Given the description of an element on the screen output the (x, y) to click on. 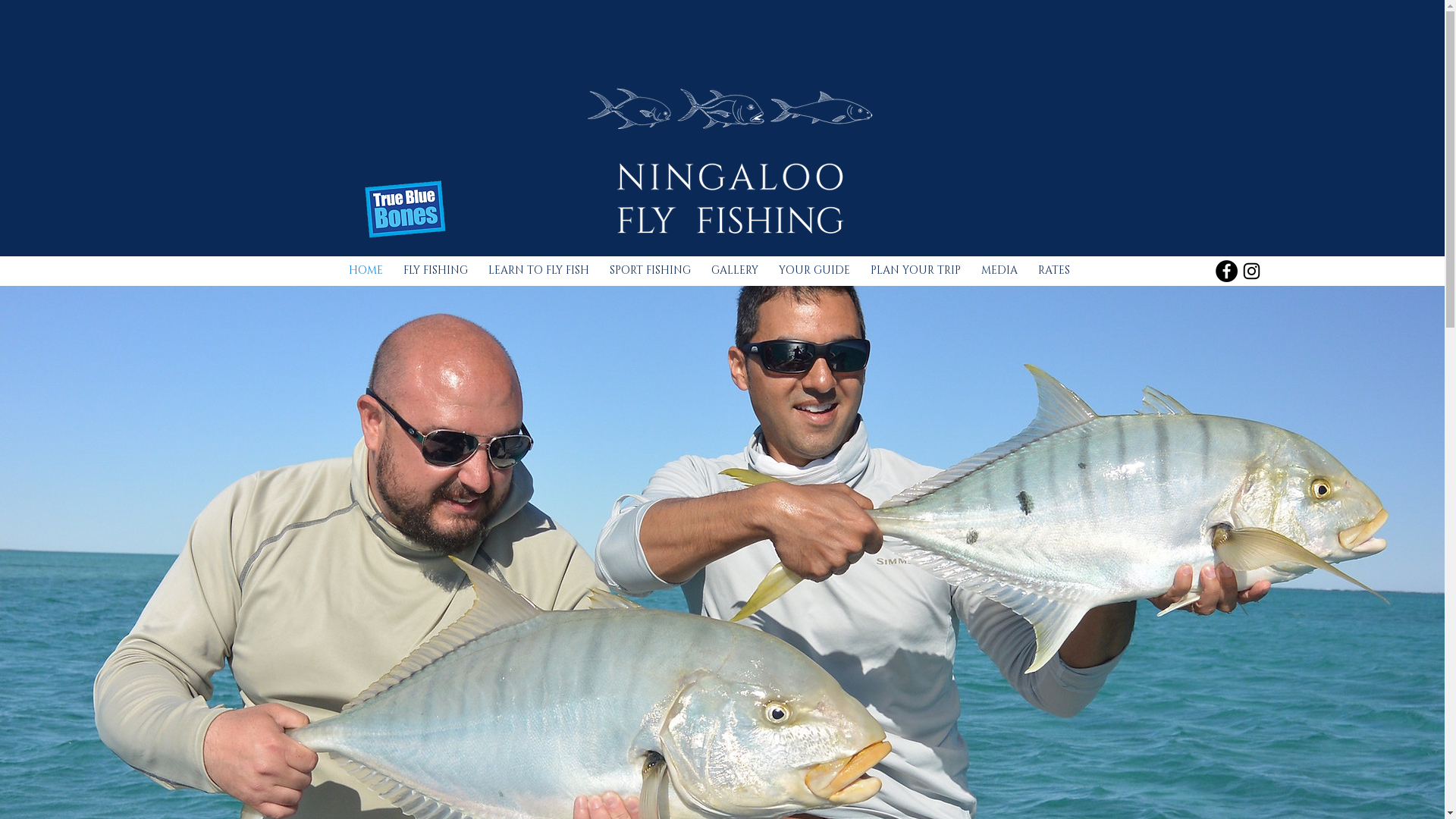
LEARN TO FLY FISH Element type: text (538, 270)
SPORT FISHING Element type: text (649, 270)
HOME Element type: text (365, 270)
RATES Element type: text (1054, 270)
PLAN YOUR TRIP Element type: text (914, 270)
GALLERY Element type: text (734, 270)
YOUR GUIDE Element type: text (814, 270)
FLY FISHING Element type: text (434, 270)
MEDIA Element type: text (998, 270)
